Given the description of an element on the screen output the (x, y) to click on. 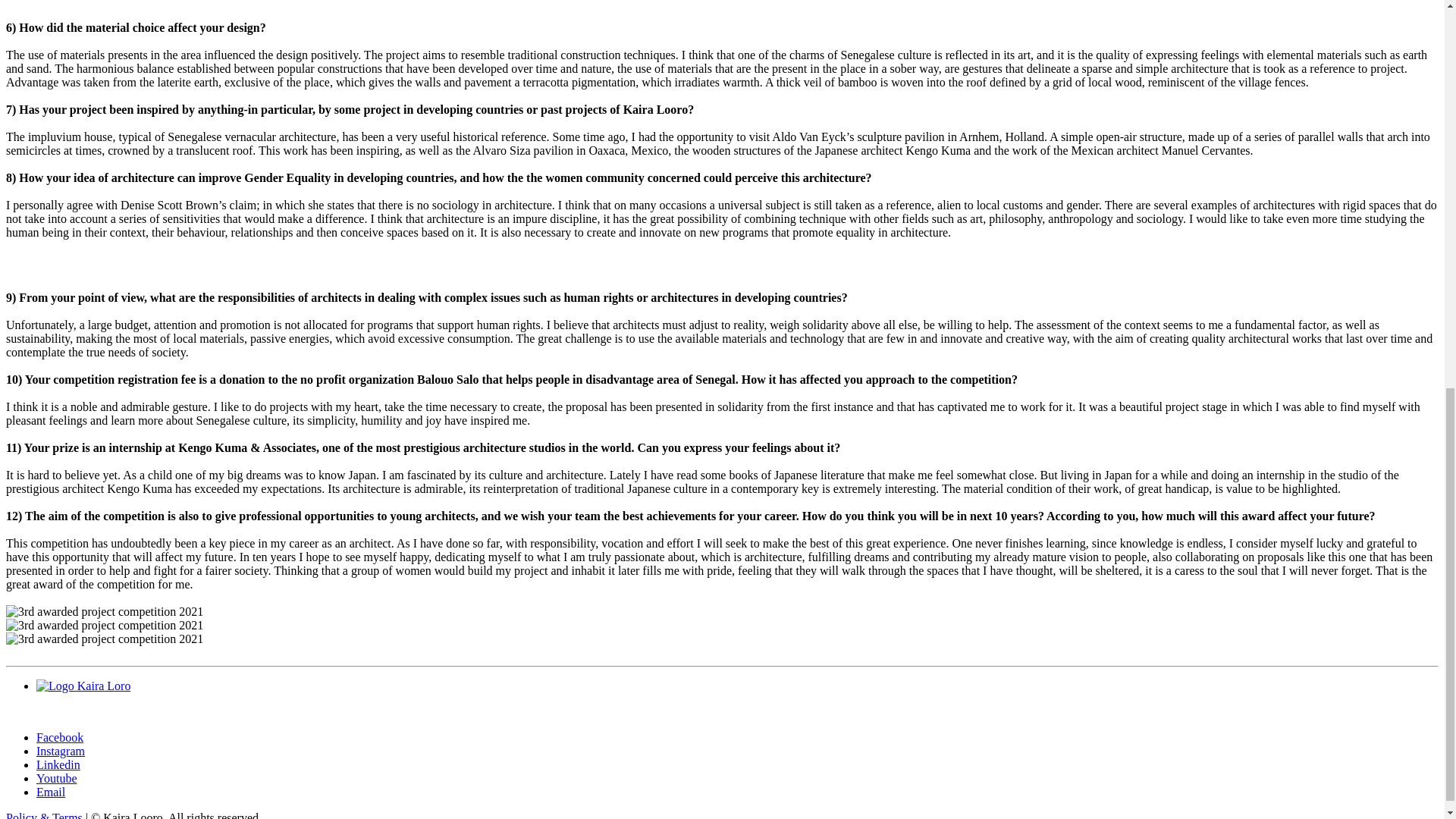
Linkedin (58, 764)
Youtube (56, 778)
Email (50, 791)
Facebook (59, 737)
Instagram (60, 750)
